Given the description of an element on the screen output the (x, y) to click on. 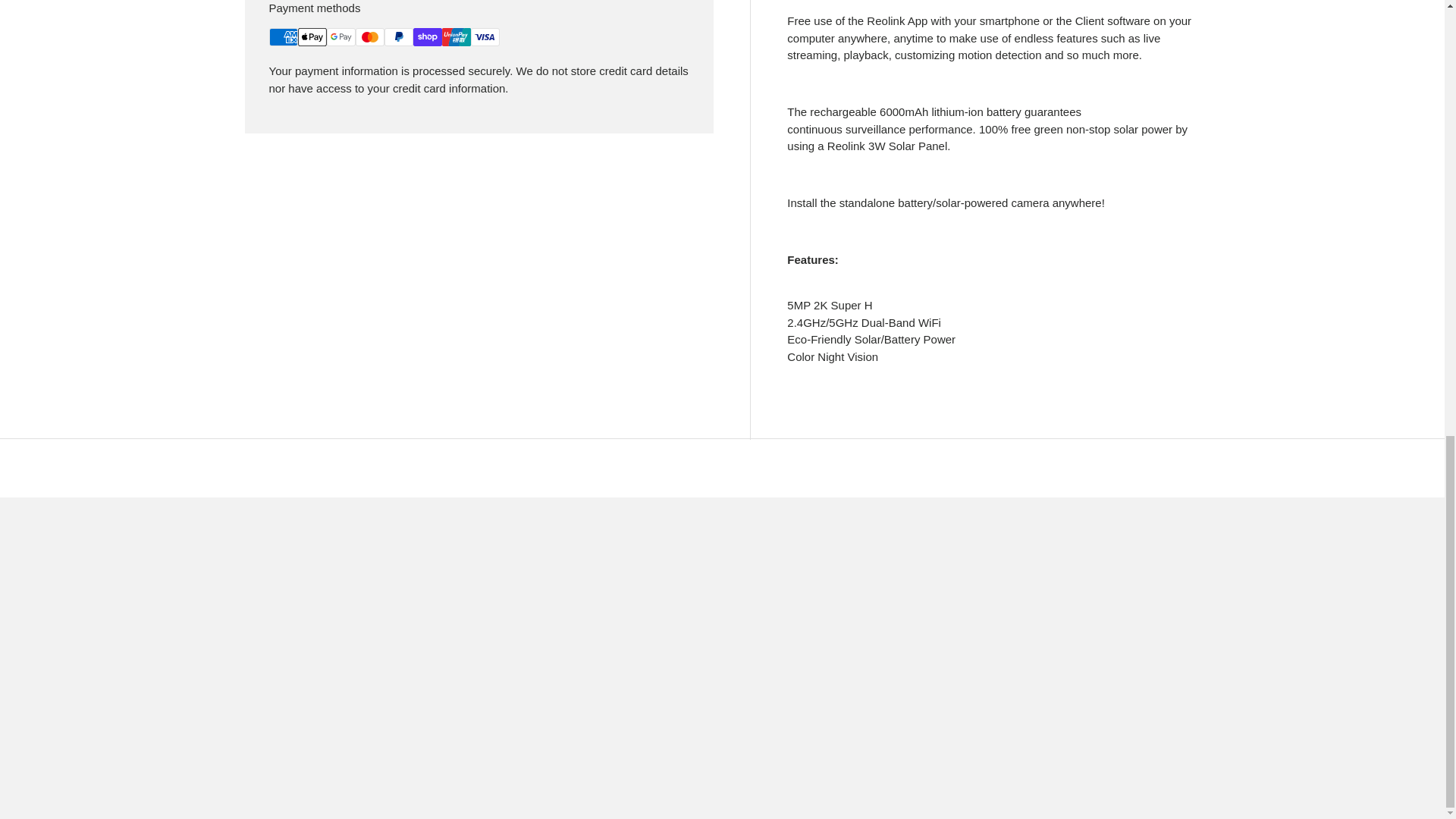
American Express (282, 36)
Google Pay (340, 36)
Apple Pay (311, 36)
